Given the description of an element on the screen output the (x, y) to click on. 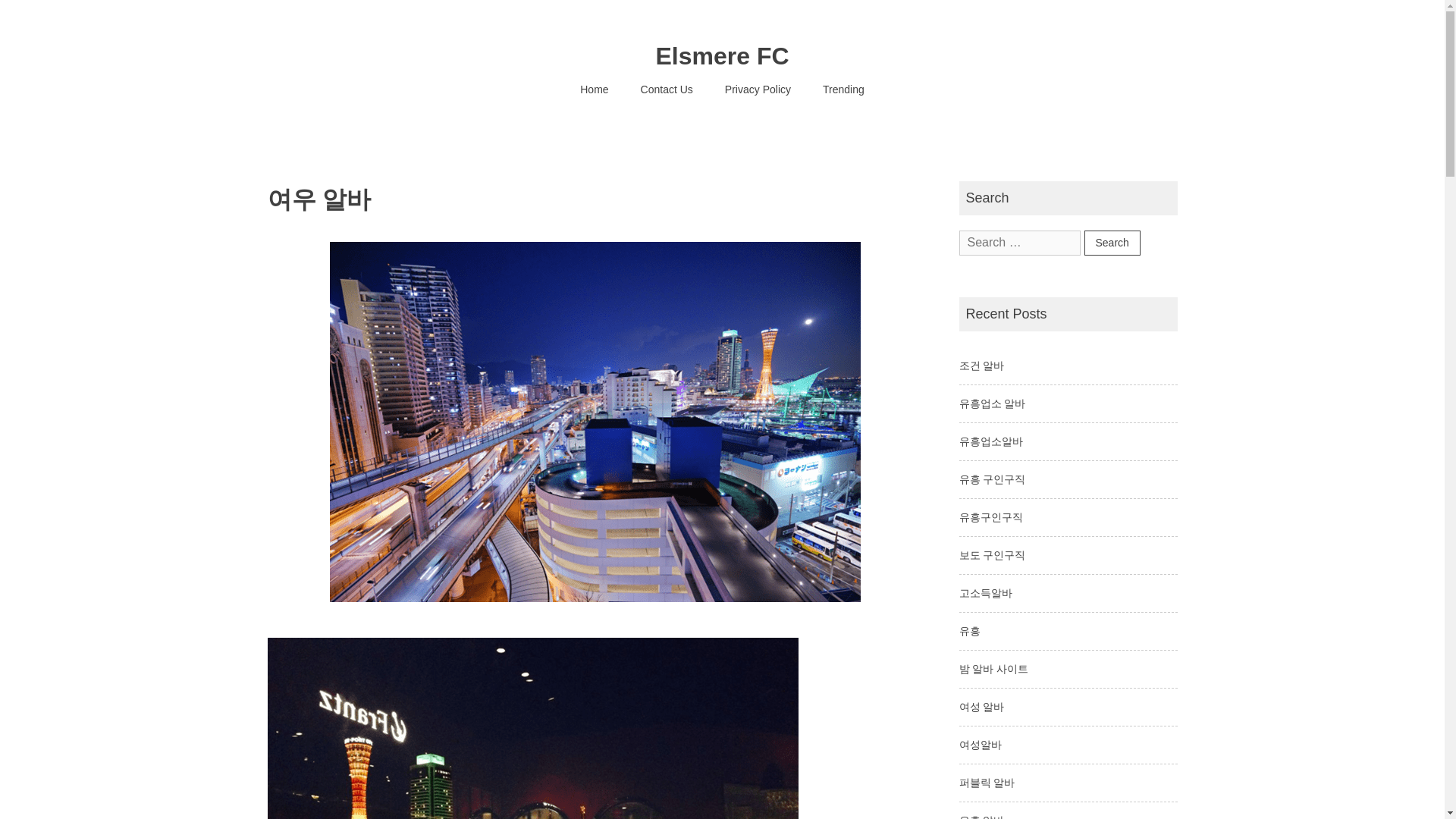
Search (1112, 242)
Search (1112, 242)
Search (1112, 242)
Home (594, 89)
Elsmere FC (722, 55)
Privacy Policy (757, 89)
Trending (843, 89)
Contact Us (666, 89)
